Given the description of an element on the screen output the (x, y) to click on. 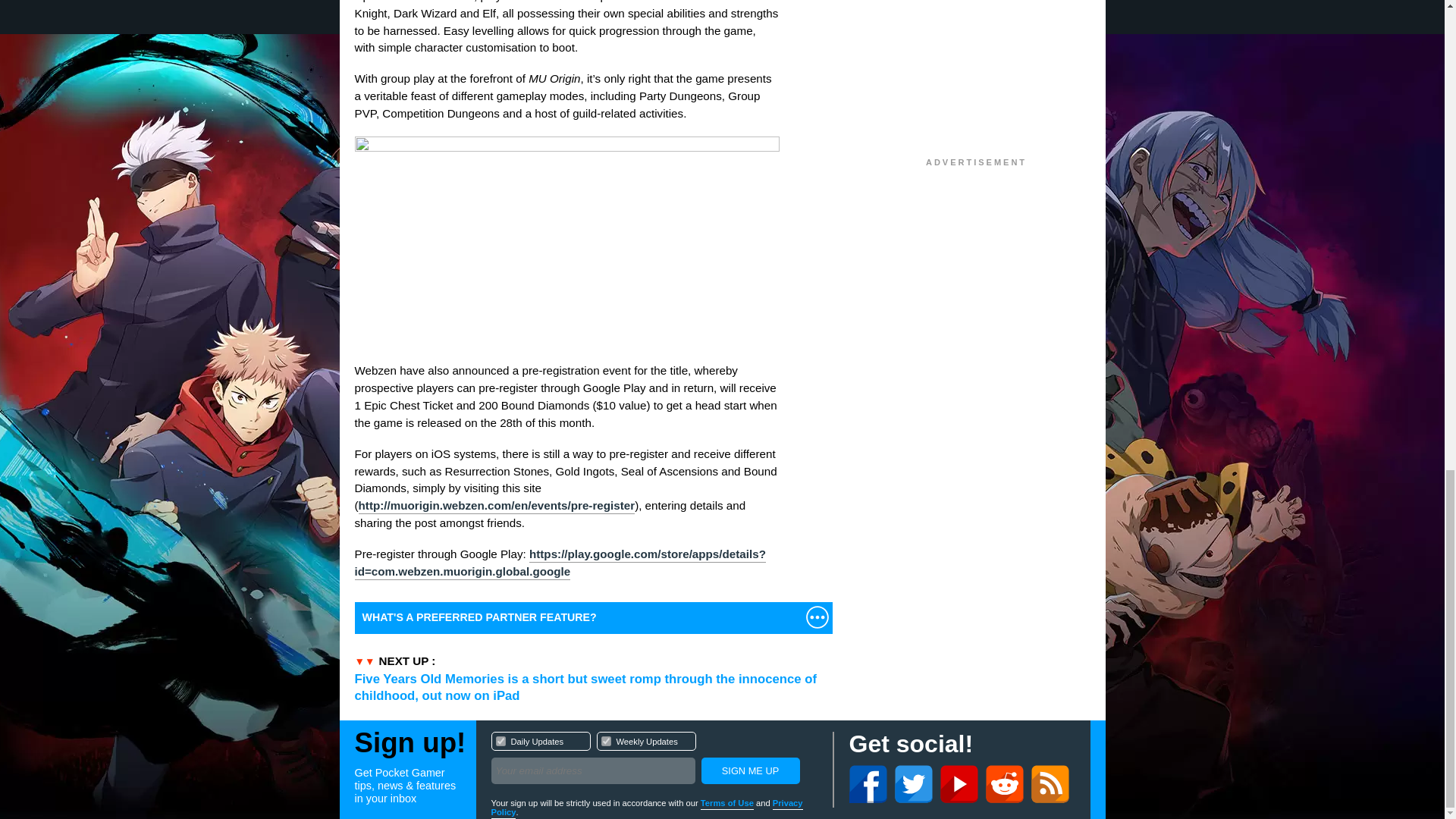
Sign Me Up (749, 770)
1 (654, 759)
2 (500, 741)
